Given the description of an element on the screen output the (x, y) to click on. 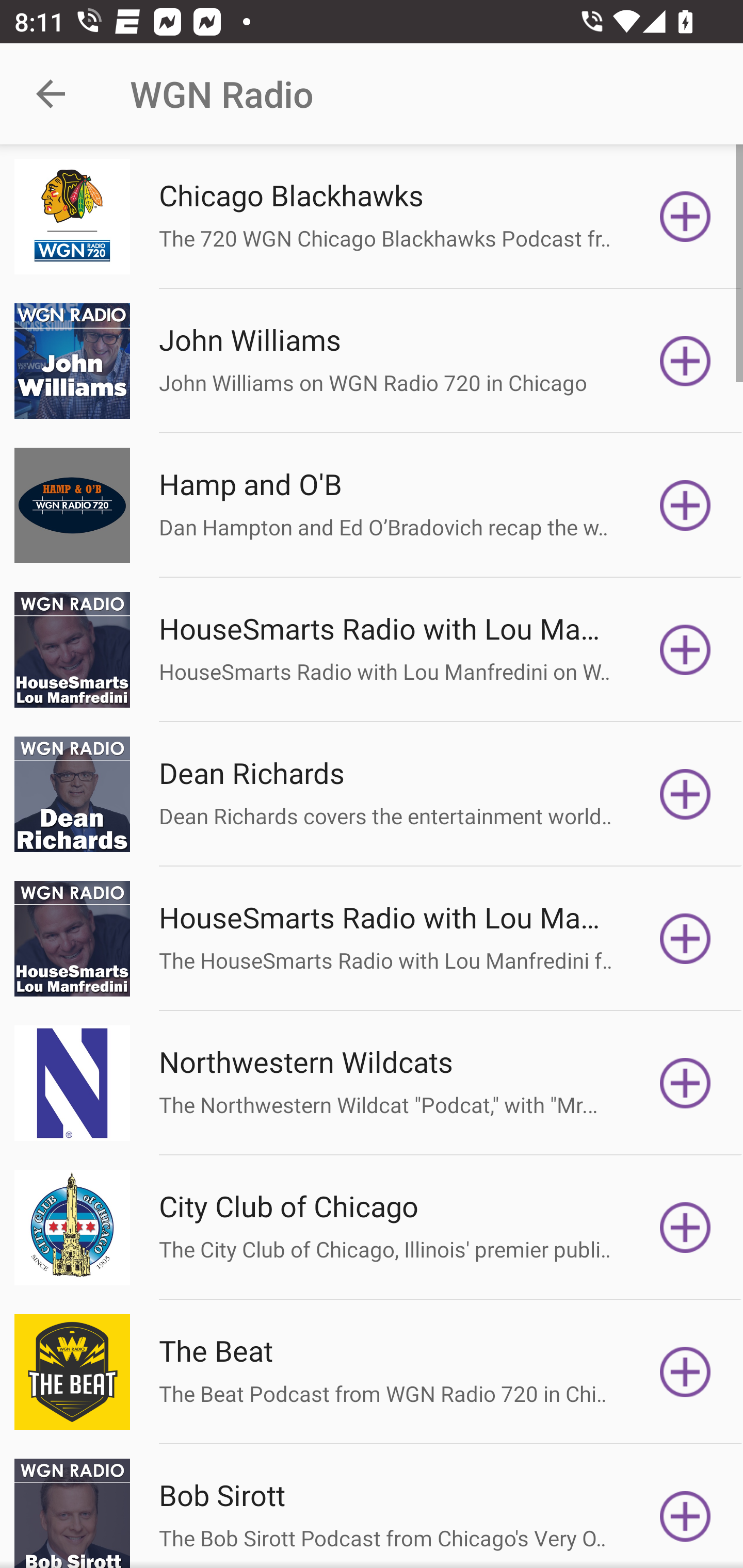
Navigate up (50, 93)
Subscribe (685, 216)
Subscribe (685, 360)
Subscribe (685, 505)
Subscribe (685, 649)
Subscribe (685, 793)
Subscribe (685, 939)
Subscribe (685, 1083)
Subscribe (685, 1227)
Subscribe (685, 1371)
Subscribe (685, 1513)
